Given the description of an element on the screen output the (x, y) to click on. 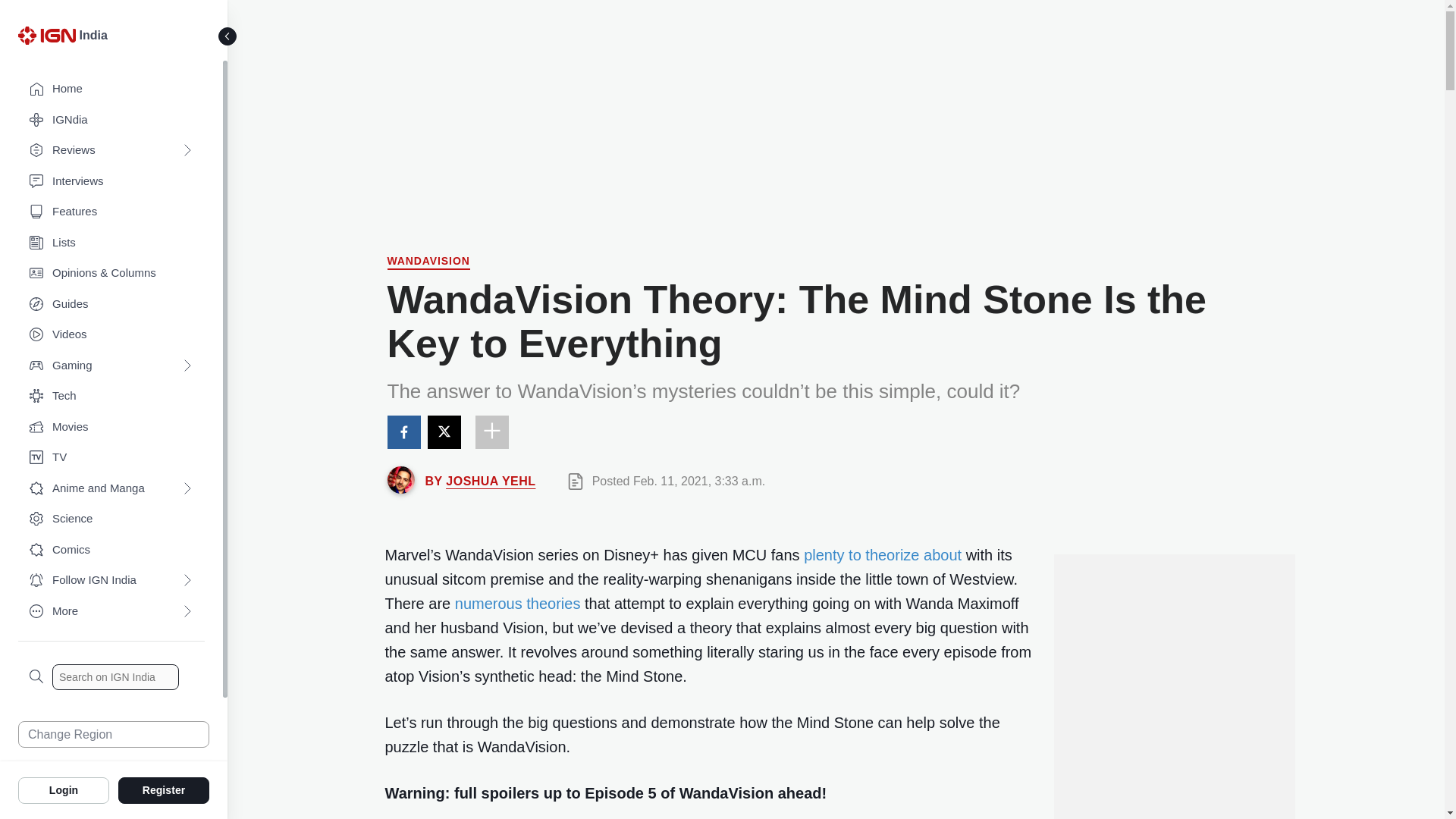
Anime and Manga (111, 487)
Movies (111, 427)
Home (111, 89)
Interviews (111, 181)
IGN Logo (46, 34)
Follow IGN India (111, 580)
Reviews (111, 150)
More (111, 610)
Videos (111, 334)
TV (111, 457)
